Given the description of an element on the screen output the (x, y) to click on. 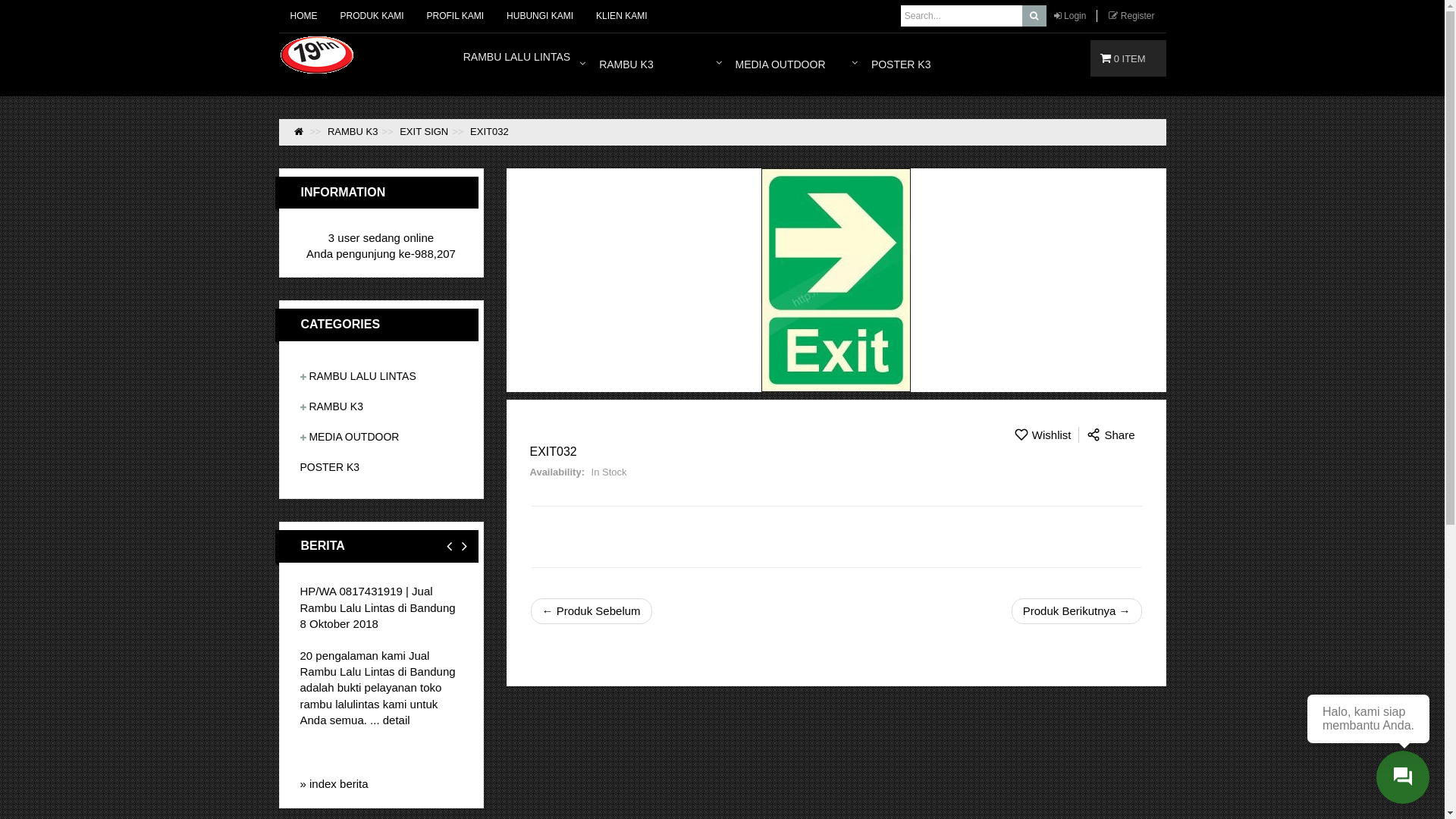
Share Element type: text (1110, 434)
RAMBU K3   Element type: text (657, 64)
EXIT SIGN Element type: text (423, 131)
PRODUK KAMI Element type: text (372, 15)
EXIT032 Element type: hover (835, 280)
Login Element type: text (1074, 15)
0 ITEM Element type: text (1125, 57)
RAMBU LALU LINTAS Element type: text (361, 376)
RAMBU K3 Element type: text (352, 131)
PROFIL KAMI Element type: text (455, 15)
RAMBU LALU LINTAS    Element type: text (521, 64)
HP/WA 0817431919 | Jual Rambu Lalu Lintas di Bandung Element type: text (377, 598)
detail Element type: text (396, 719)
RAMBU K3 Element type: text (335, 406)
POSTER K3 Element type: text (330, 467)
MEDIA OUTDOOR   Element type: text (794, 64)
MEDIA OUTDOOR Element type: text (353, 436)
Wishlist Element type: text (1042, 434)
HOME Element type: text (304, 15)
HUBUNGI KAMI Element type: text (539, 15)
Register Element type: text (1137, 15)
KLIEN KAMI Element type: text (621, 15)
POSTER K3 Element type: text (929, 64)
